Given the description of an element on the screen output the (x, y) to click on. 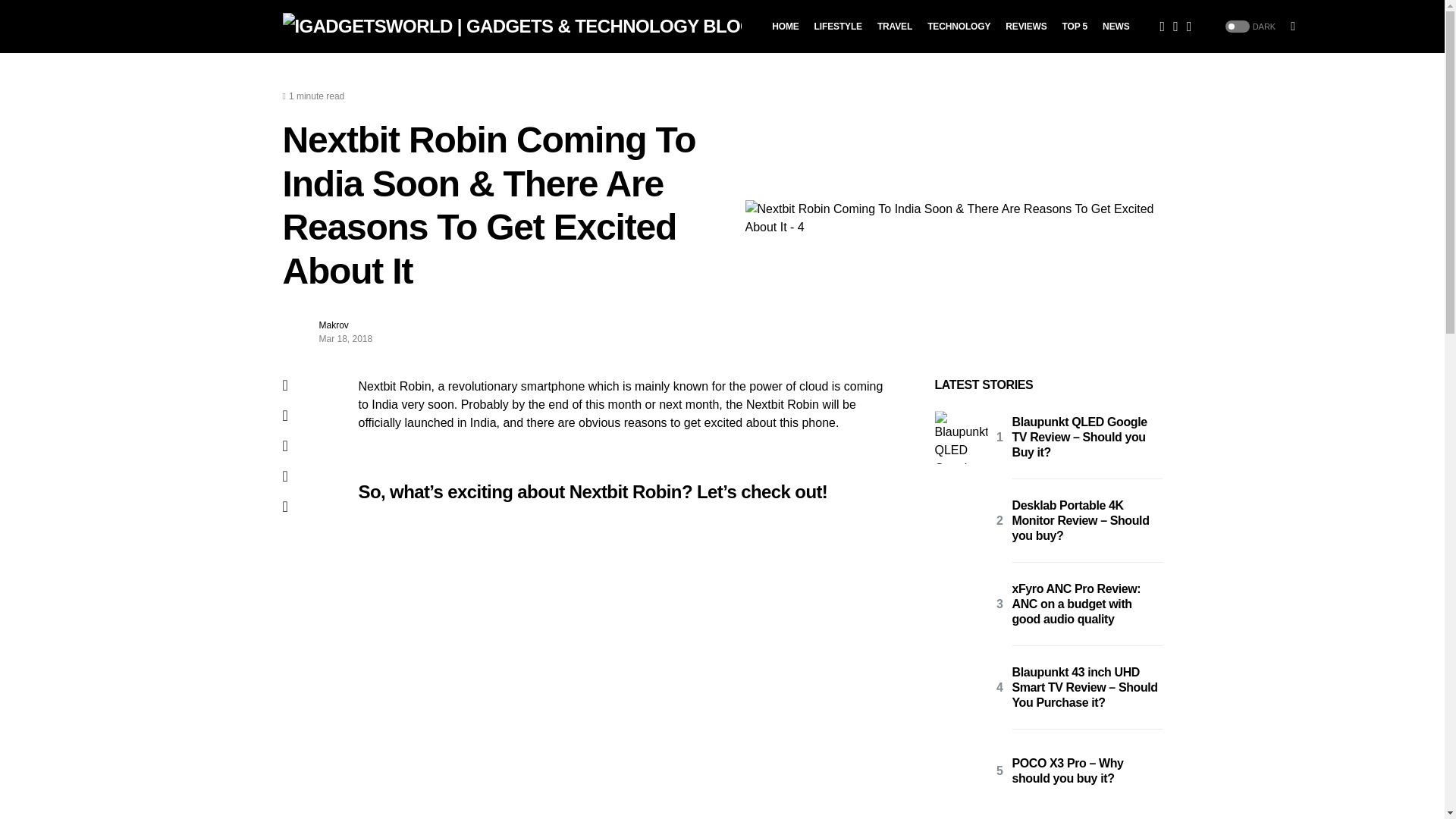
Desklab Portable 4K Monitor Review - Should you buy? - 6 (960, 520)
POCO X3 Pro - Why should you buy it? - 9 (960, 770)
TECHNOLOGY (958, 26)
Blaupunkt QLED Google TV Review - Should you Buy it? - 5 (960, 437)
LIFESTYLE (837, 26)
